Given the description of an element on the screen output the (x, y) to click on. 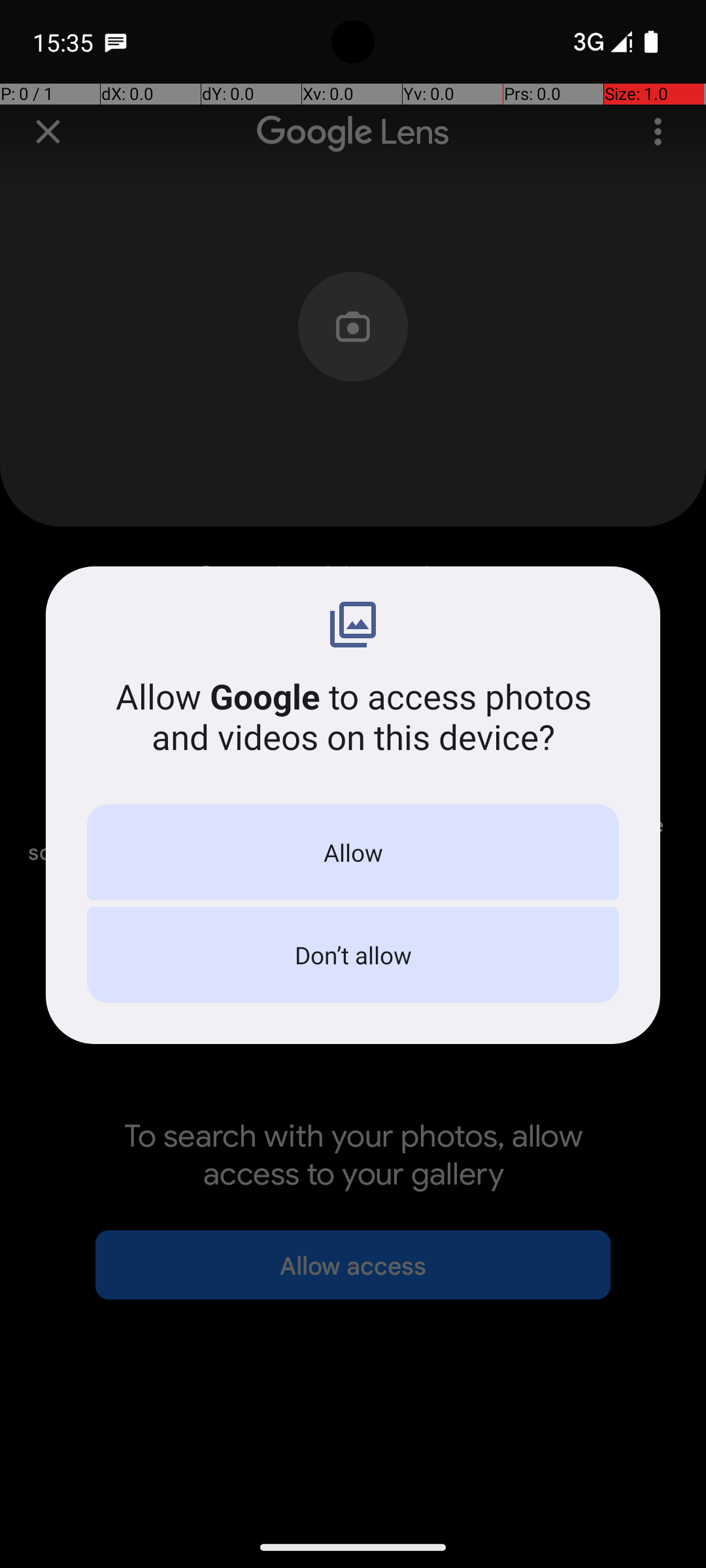
Allow Google to access photos and videos on this device? Element type: android.widget.TextView (352, 715)
